Given the description of an element on the screen output the (x, y) to click on. 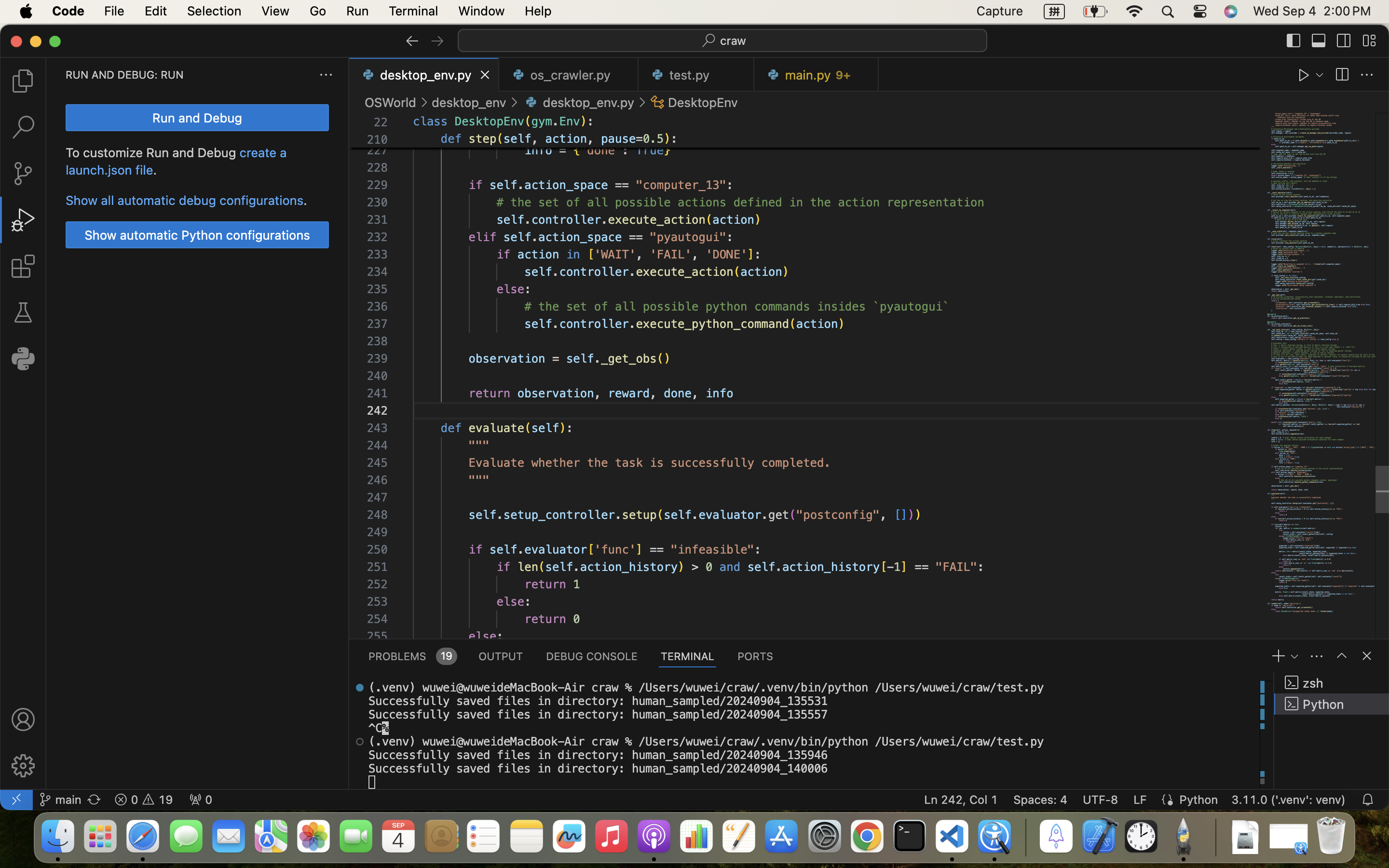
 Element type: AXGroup (1303, 74)
 Element type: AXGroup (23, 80)
 Element type: AXGroup (23, 312)
To customize Run and Debug Element type: AXStaticText (152, 152)
0 os_crawler.py   Element type: AXRadioButton (568, 74)
